Given the description of an element on the screen output the (x, y) to click on. 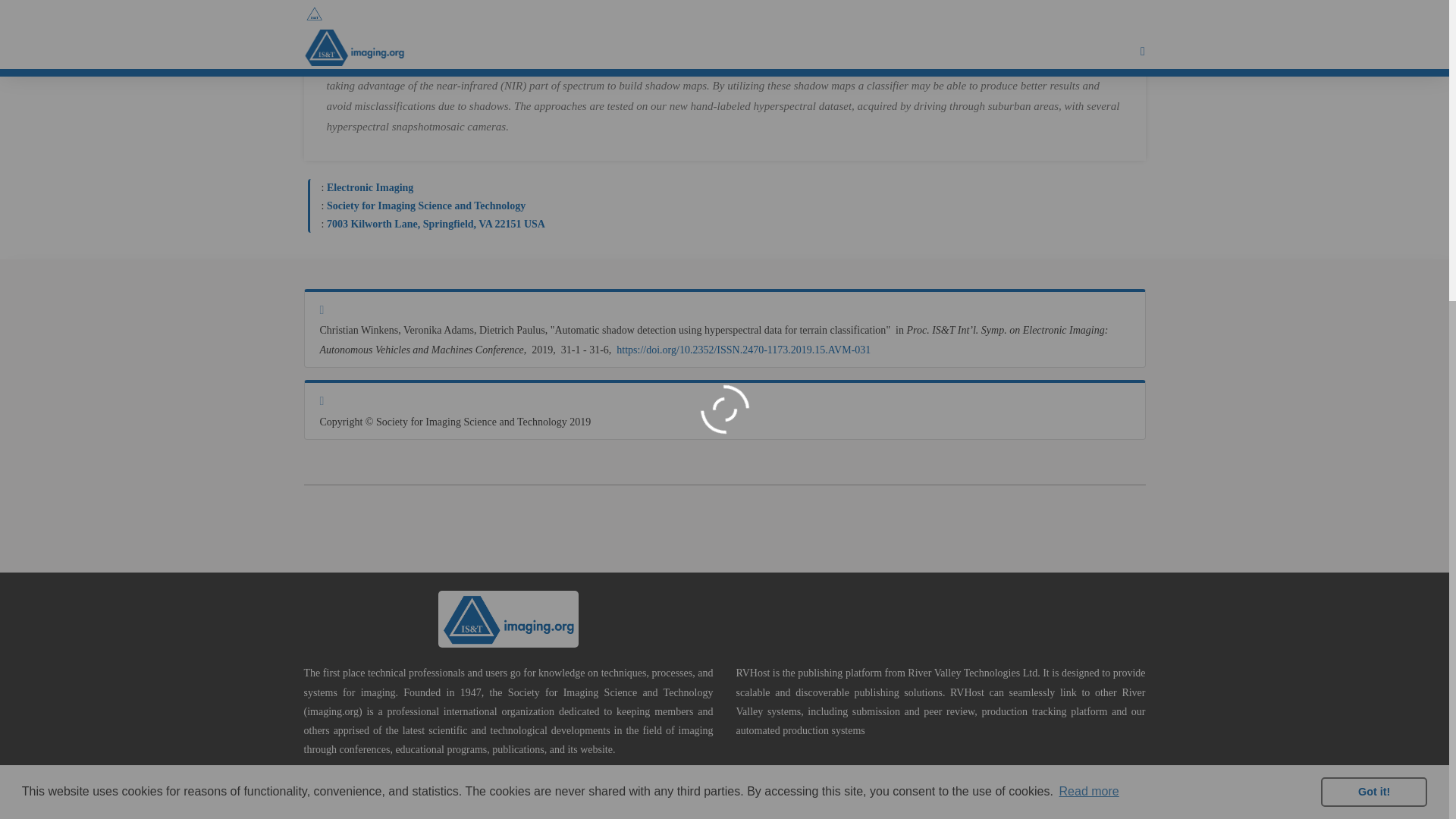
Got it! (1373, 315)
Read more (1089, 314)
